Given the description of an element on the screen output the (x, y) to click on. 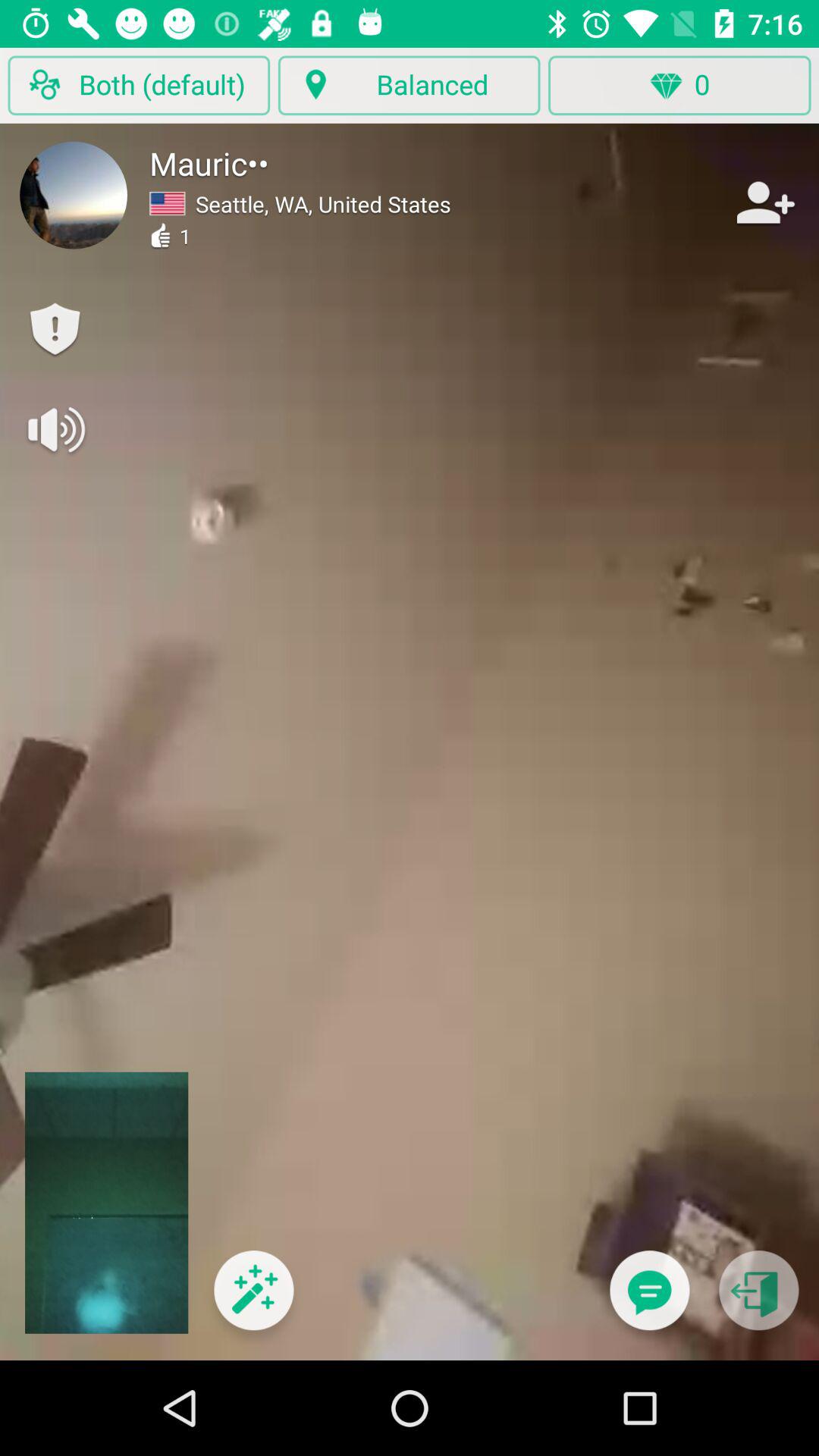
add friend (763, 202)
